Given the description of an element on the screen output the (x, y) to click on. 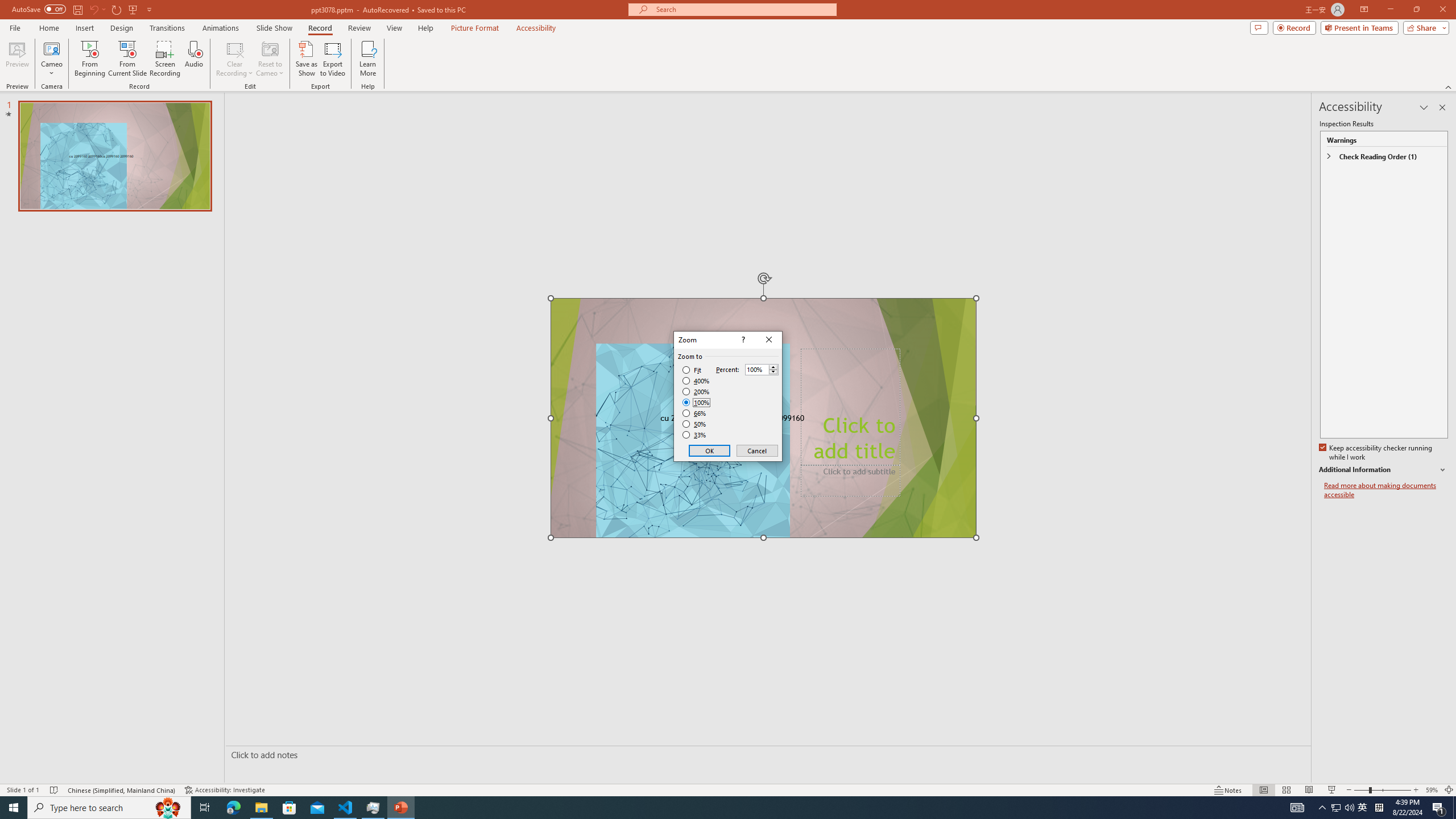
Fit (691, 370)
66% (694, 412)
